Given the description of an element on the screen output the (x, y) to click on. 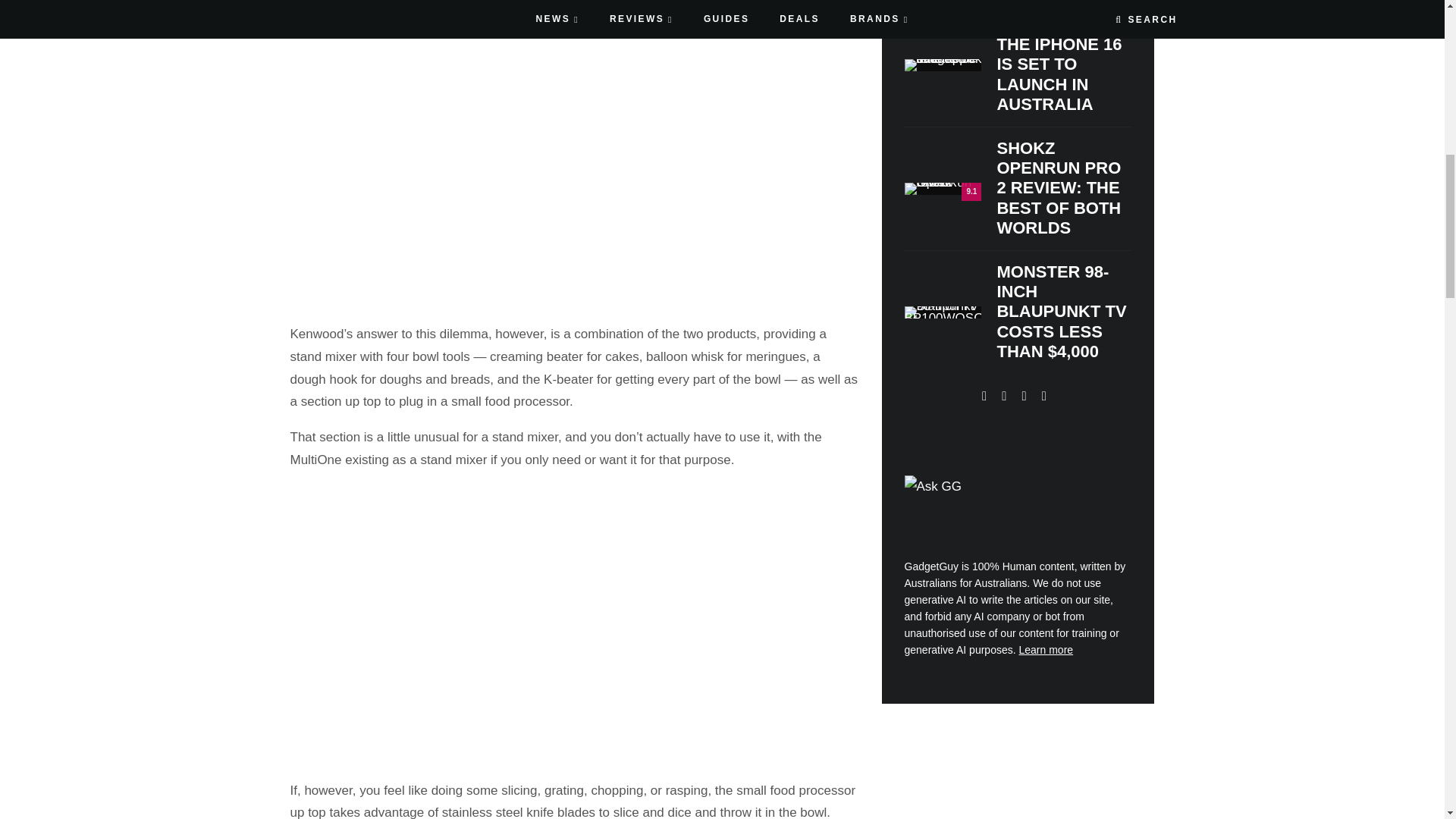
Blaupunkt 98-inch TV BP100WOSQ (942, 312)
iPhone 16 release date apple event stock image (942, 64)
Shokz OpenRun Pro 2 review (942, 188)
